Given the description of an element on the screen output the (x, y) to click on. 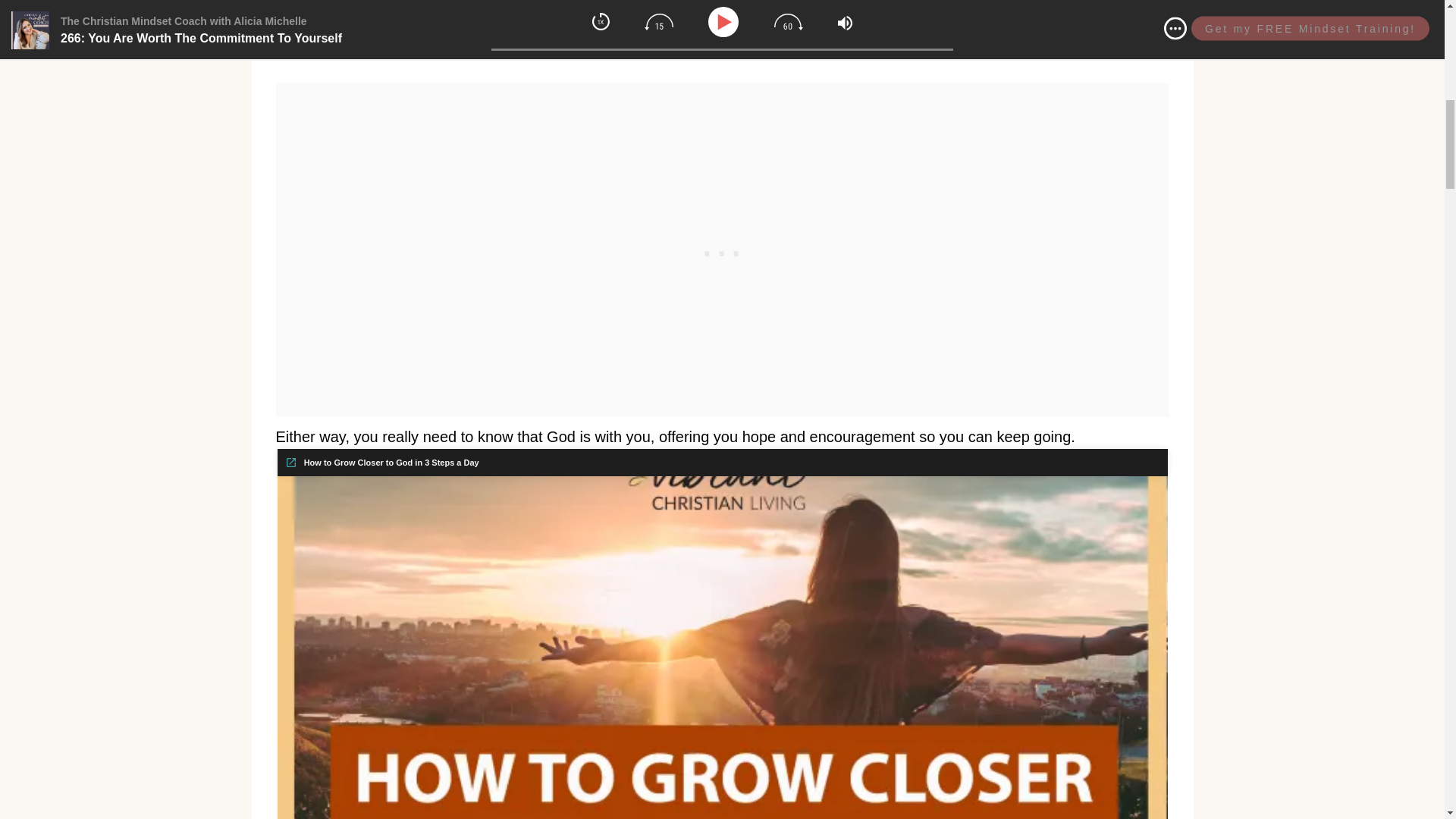
  How to Grow Closer to God in 3 Steps a Day (382, 461)
hard times (1117, 3)
